Given the description of an element on the screen output the (x, y) to click on. 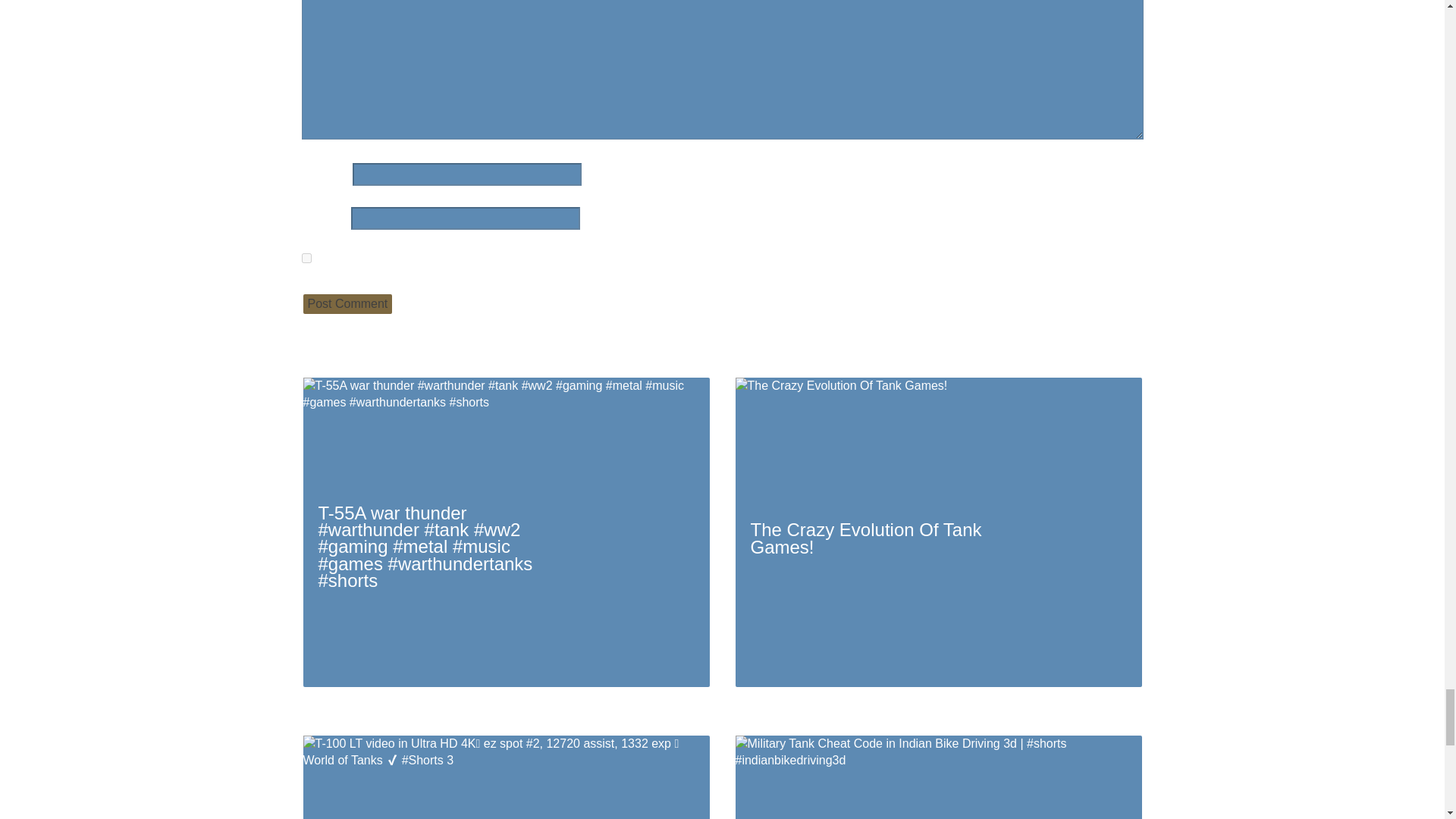
Post Comment (347, 303)
yes (306, 257)
